Given the description of an element on the screen output the (x, y) to click on. 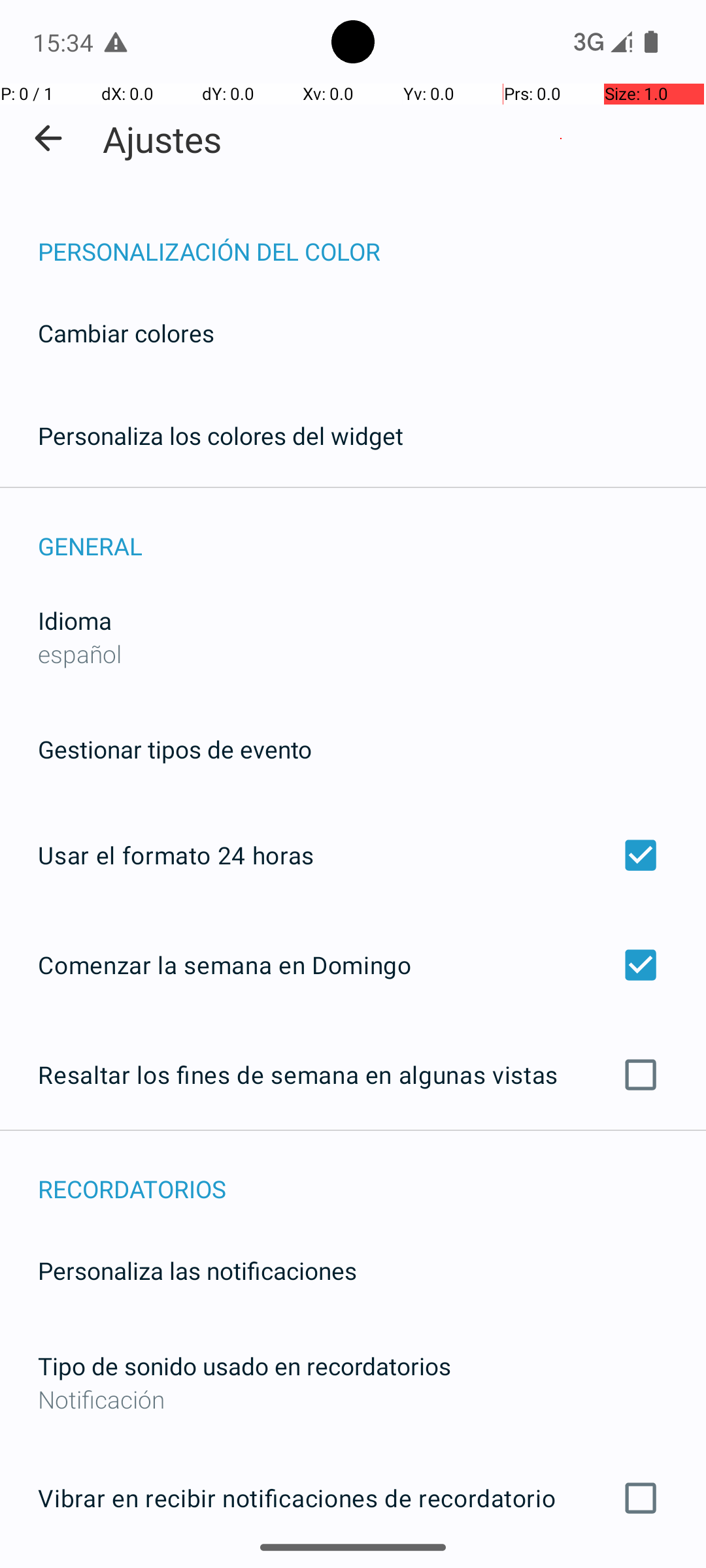
PERSONALIZACIÓN DEL COLOR Element type: android.widget.TextView (371, 237)
RECORDATORIOS Element type: android.widget.TextView (371, 1174)
Cambiar colores Element type: android.widget.TextView (125, 332)
Personaliza los colores del widget Element type: android.widget.TextView (220, 435)
Idioma Element type: android.widget.TextView (74, 620)
español Element type: android.widget.TextView (79, 653)
Gestionar tipos de evento Element type: android.widget.TextView (174, 748)
Usar el formato 24 horas Element type: android.widget.CheckBox (352, 855)
Comenzar la semana en Domingo Element type: android.widget.CheckBox (352, 964)
Resaltar los fines de semana en algunas vistas Element type: android.widget.CheckBox (352, 1074)
Personaliza las notificaciones Element type: android.widget.TextView (196, 1270)
Tipo de sonido usado en recordatorios Element type: android.widget.TextView (244, 1365)
Notificación Element type: android.widget.TextView (352, 1398)
Vibrar en recibir notificaciones de recordatorio Element type: android.widget.CheckBox (352, 1497)
Repetir recordatorios hasta ser descartados Element type: android.widget.CheckBox (352, 1567)
